Given the description of an element on the screen output the (x, y) to click on. 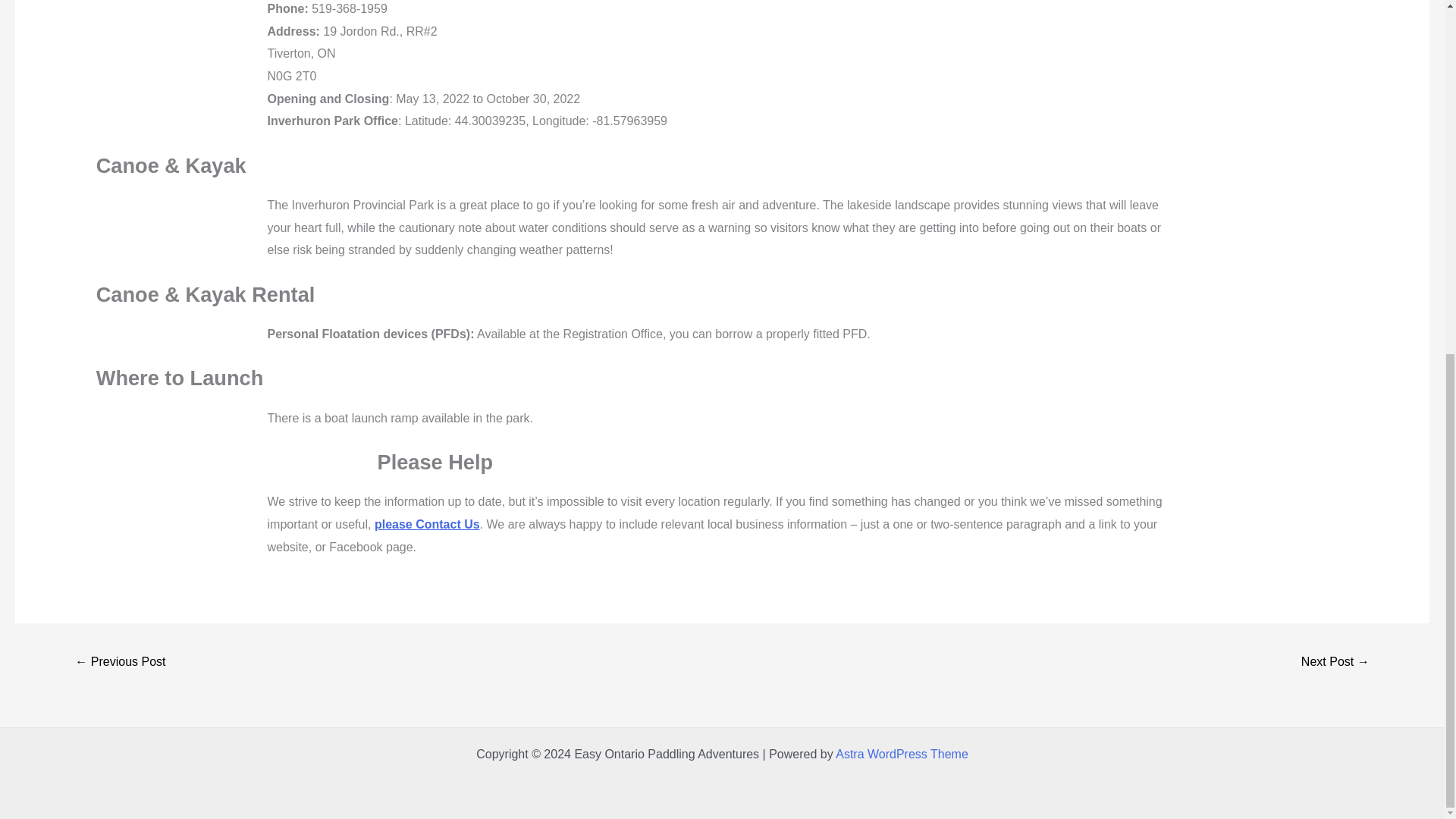
Astra WordPress Theme (901, 753)
please Contact Us (427, 523)
